Given the description of an element on the screen output the (x, y) to click on. 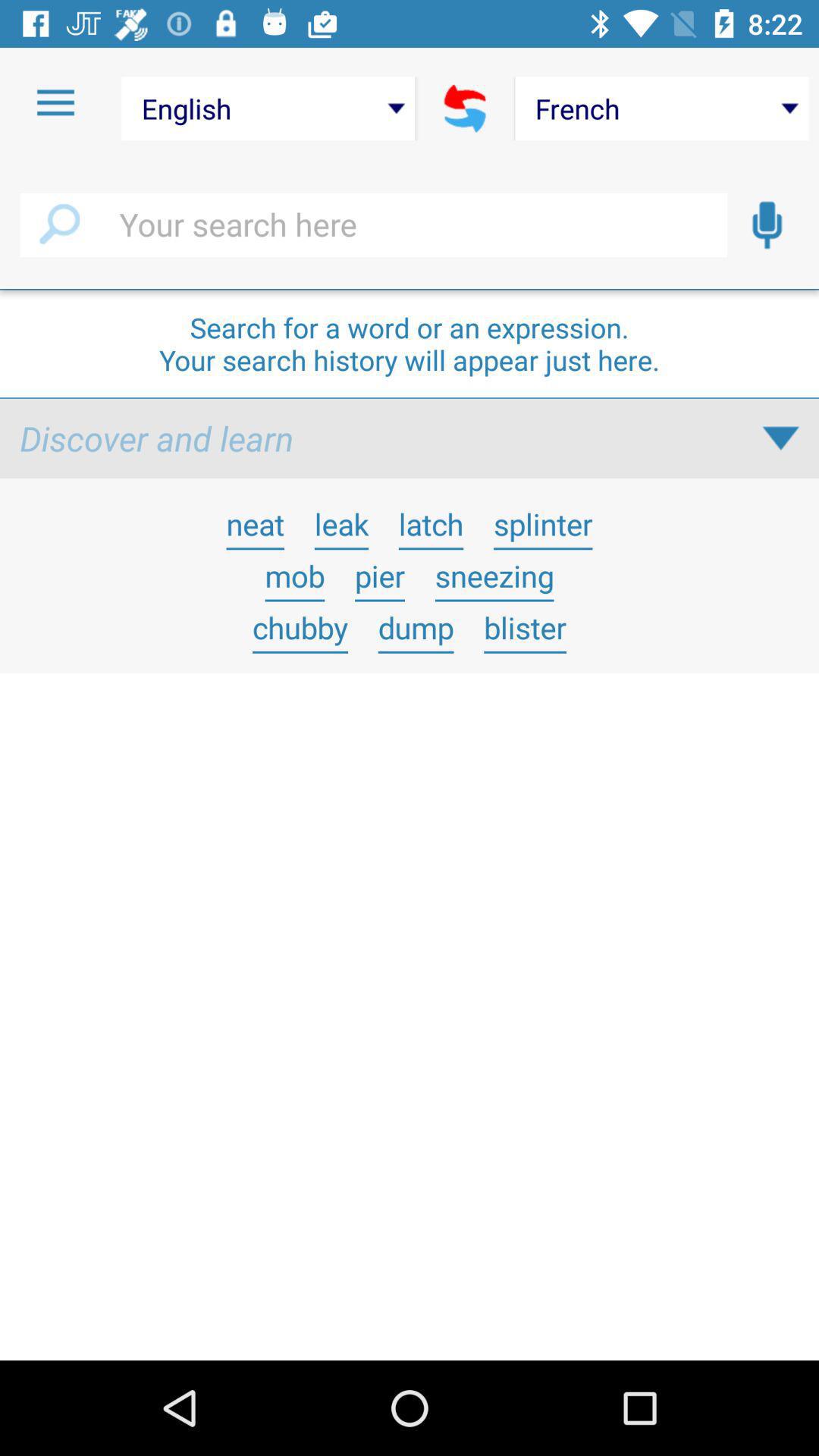
launch icon below the pier item (415, 627)
